Given the description of an element on the screen output the (x, y) to click on. 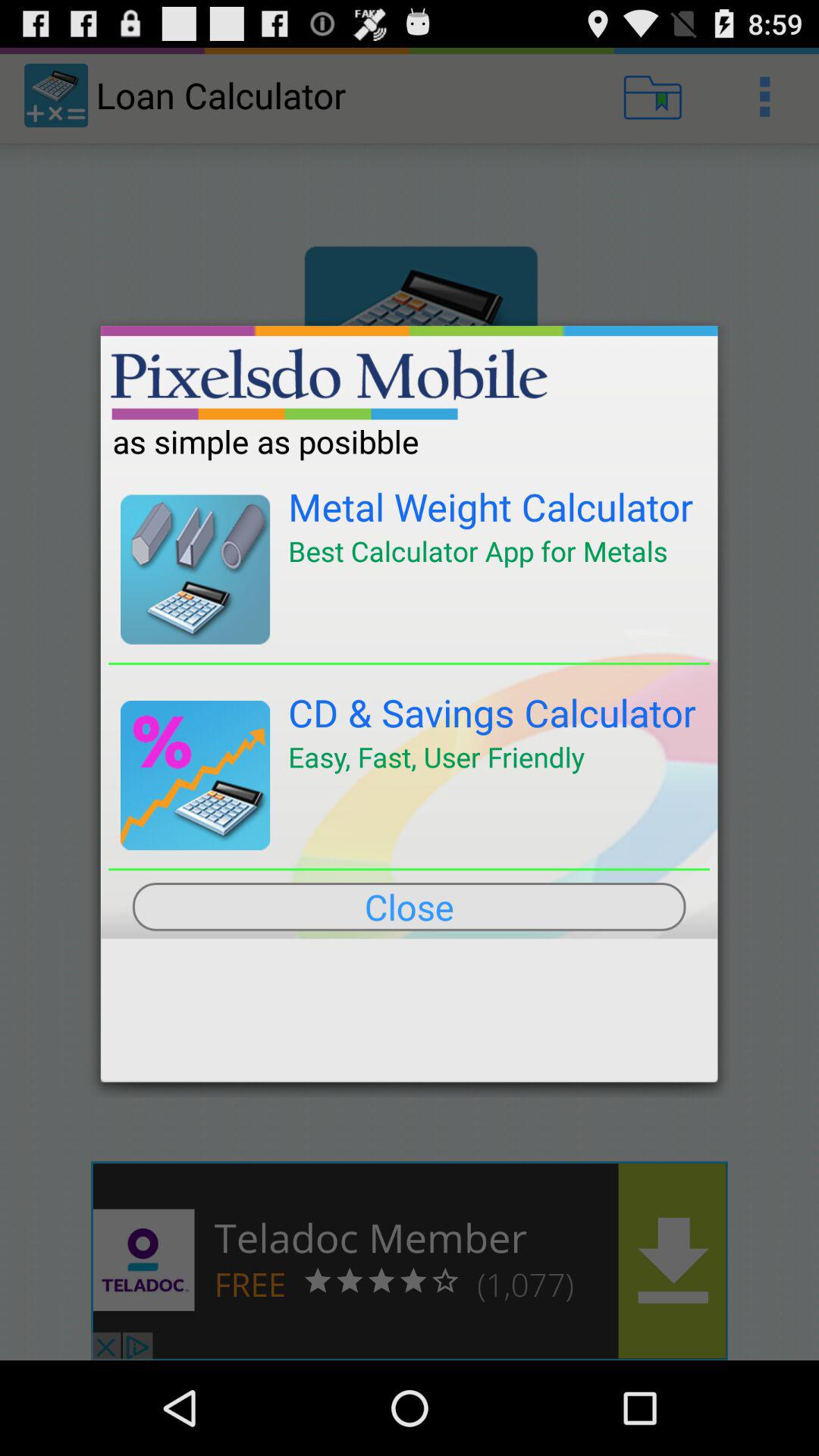
launch icon below as simple as app (490, 506)
